Given the description of an element on the screen output the (x, y) to click on. 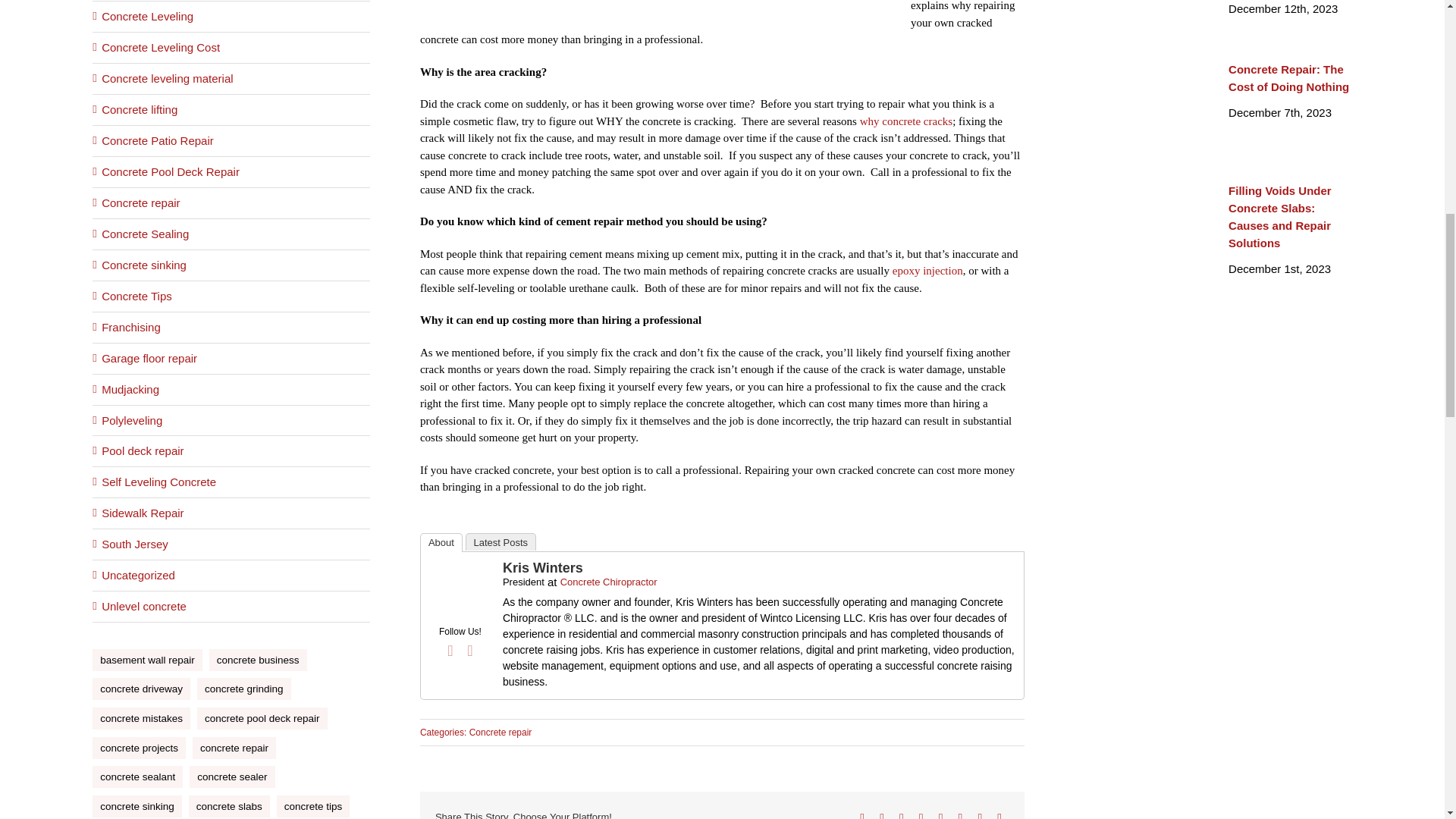
Twitter (470, 650)
Facebook (450, 650)
Kris Winters (459, 567)
